Given the description of an element on the screen output the (x, y) to click on. 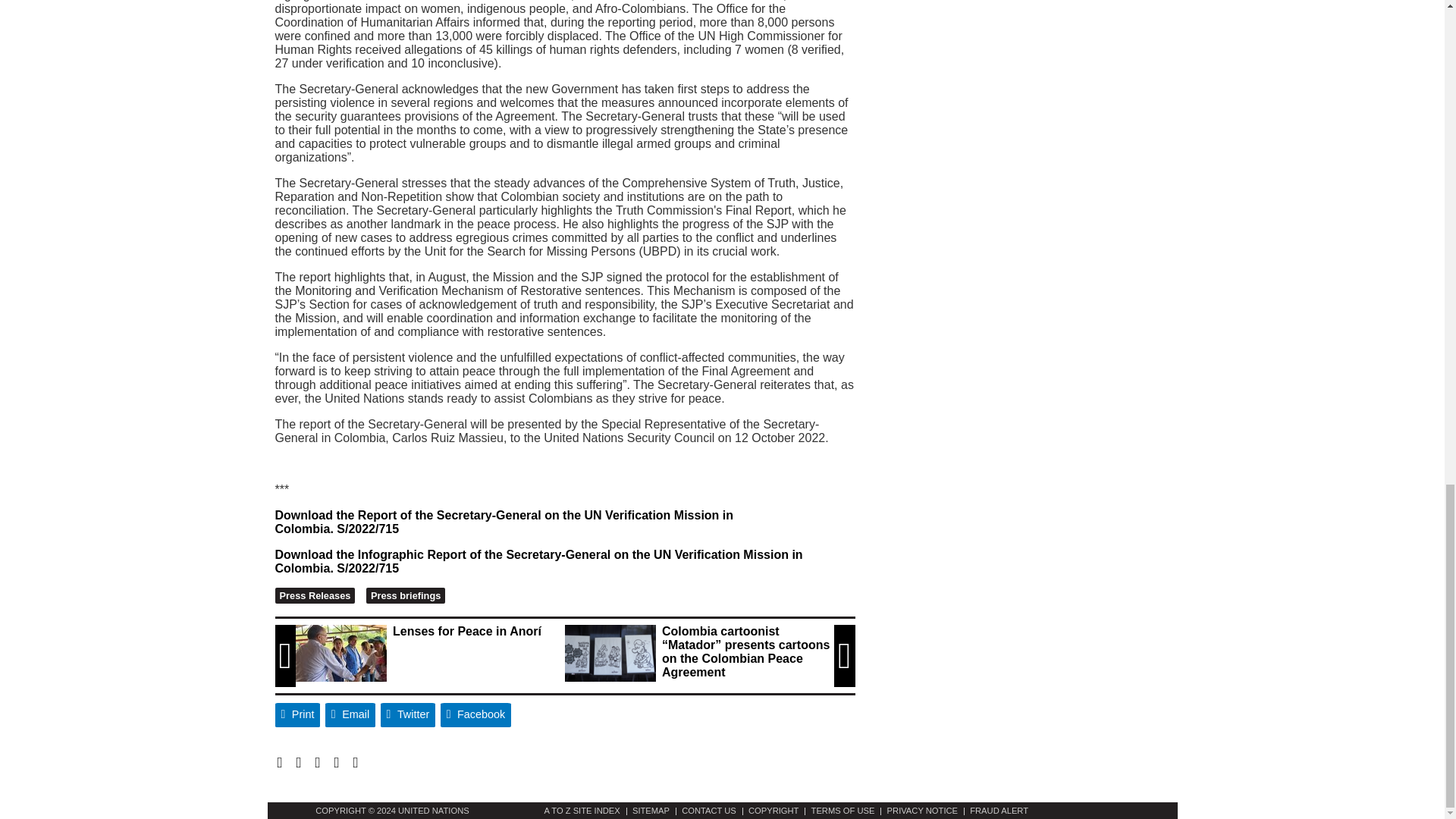
Twitter (407, 714)
Print (297, 714)
Facebook (476, 714)
Email (349, 714)
